Given the description of an element on the screen output the (x, y) to click on. 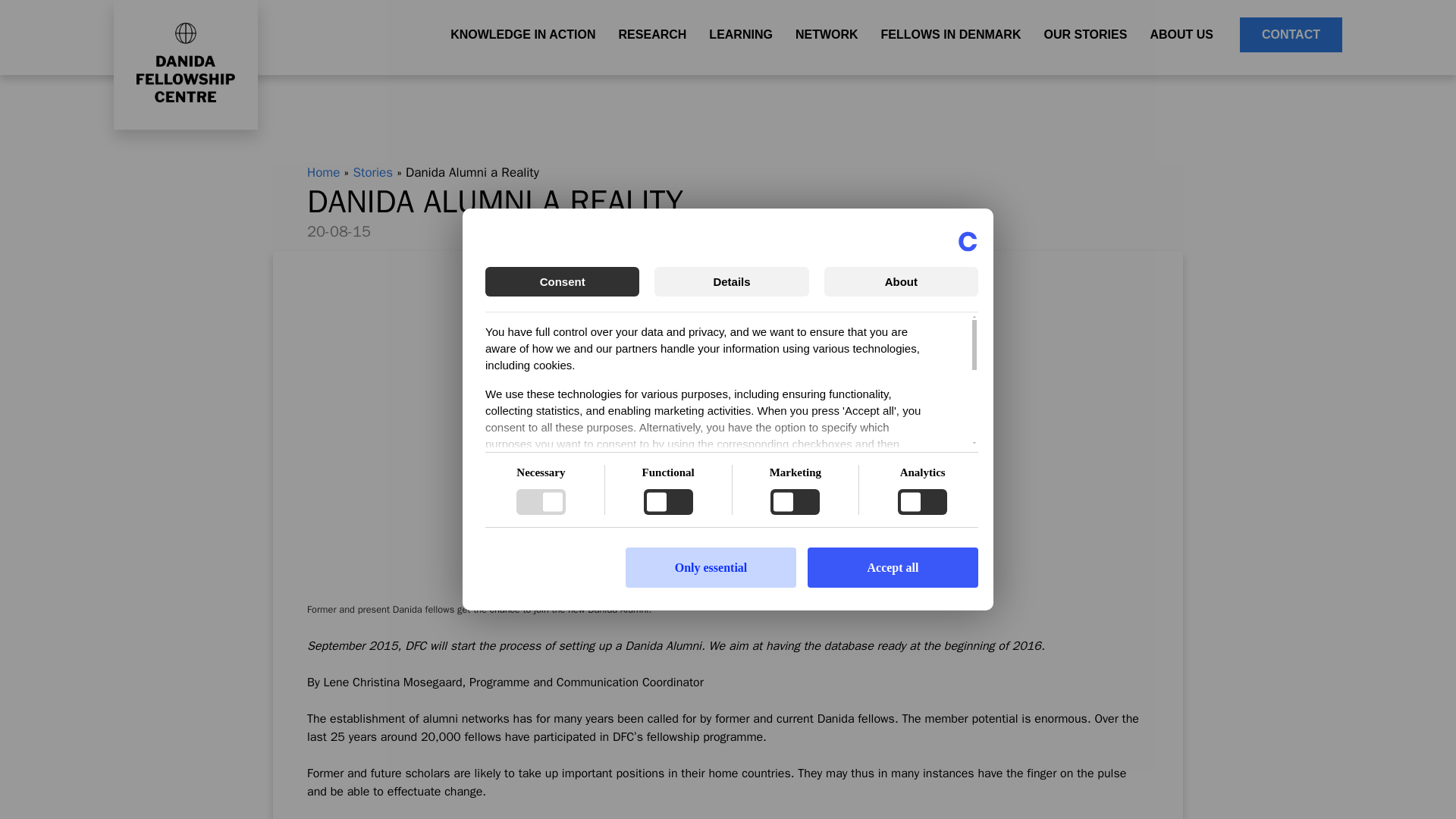
CONTACT (1291, 33)
NETWORK (826, 33)
RESEARCH (652, 33)
KNOWLEDGE IN ACTION (523, 33)
OUR STORIES (1085, 33)
LEARNING (740, 33)
FELLOWS IN DENMARK (950, 33)
ABOUT US (1181, 33)
